Given the description of an element on the screen output the (x, y) to click on. 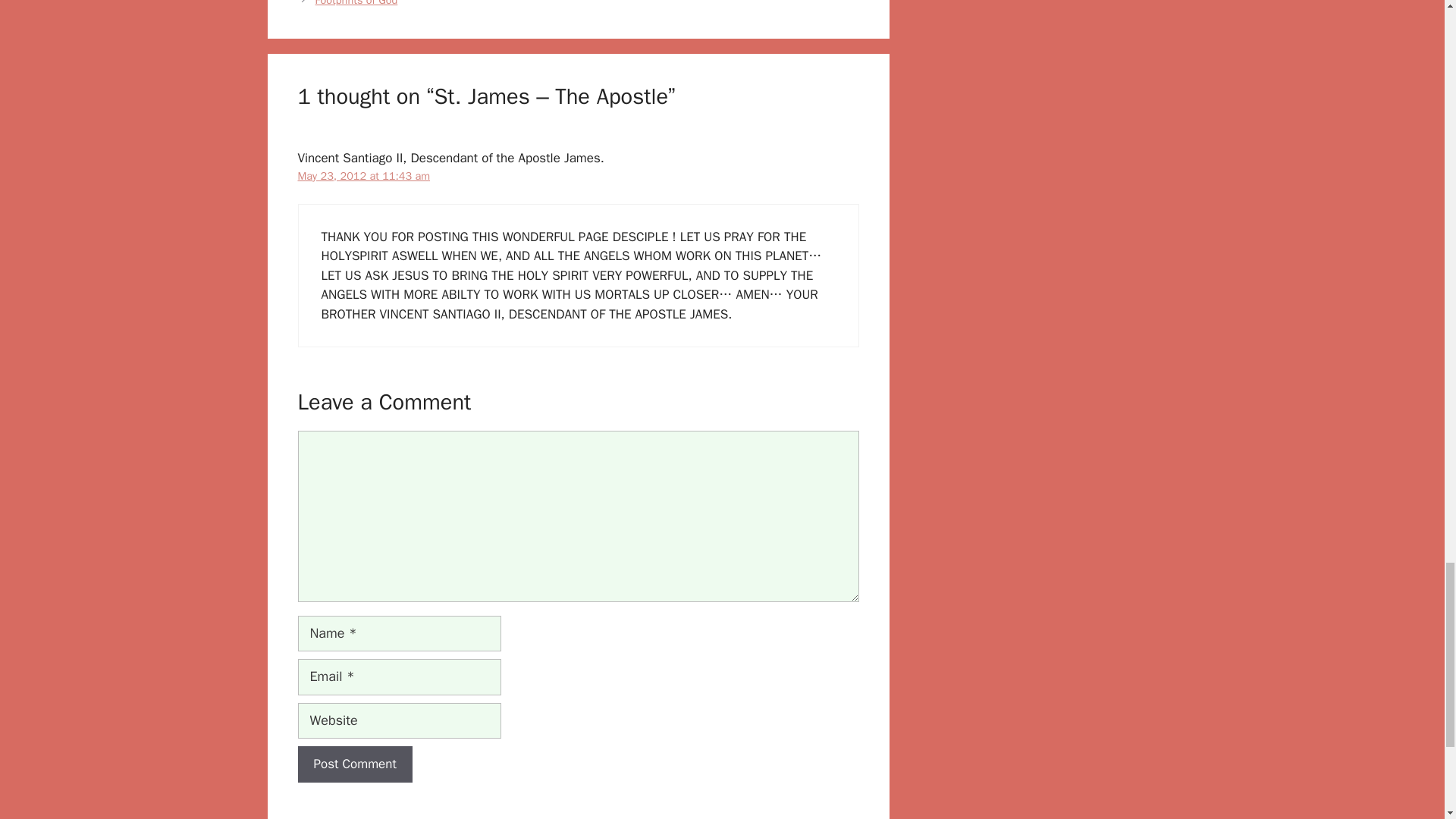
Footprints of God (356, 3)
Post Comment (354, 764)
Post Comment (354, 764)
May 23, 2012 at 11:43 am (363, 175)
